Given the description of an element on the screen output the (x, y) to click on. 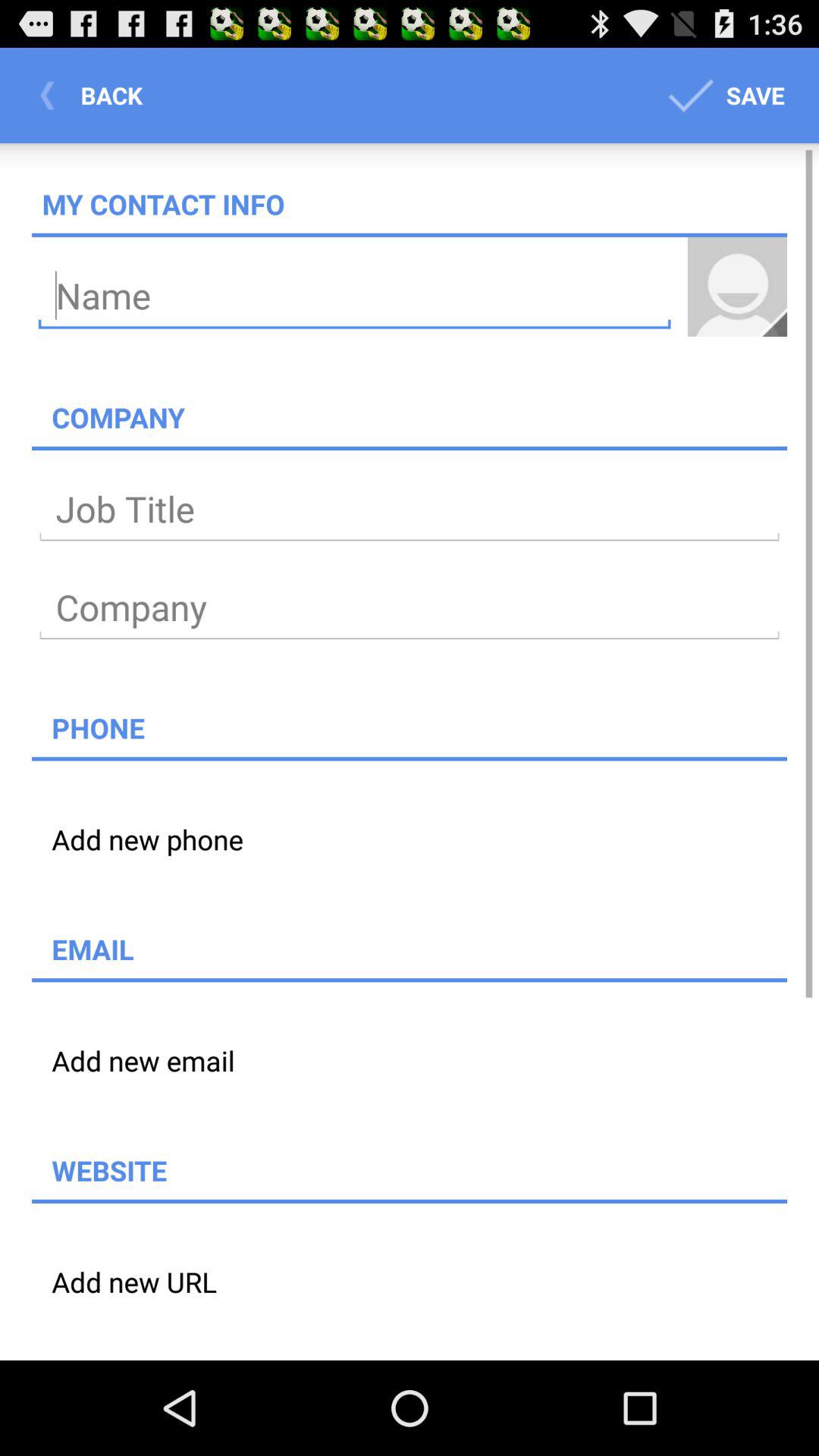
turn on the button next to back (723, 95)
